Given the description of an element on the screen output the (x, y) to click on. 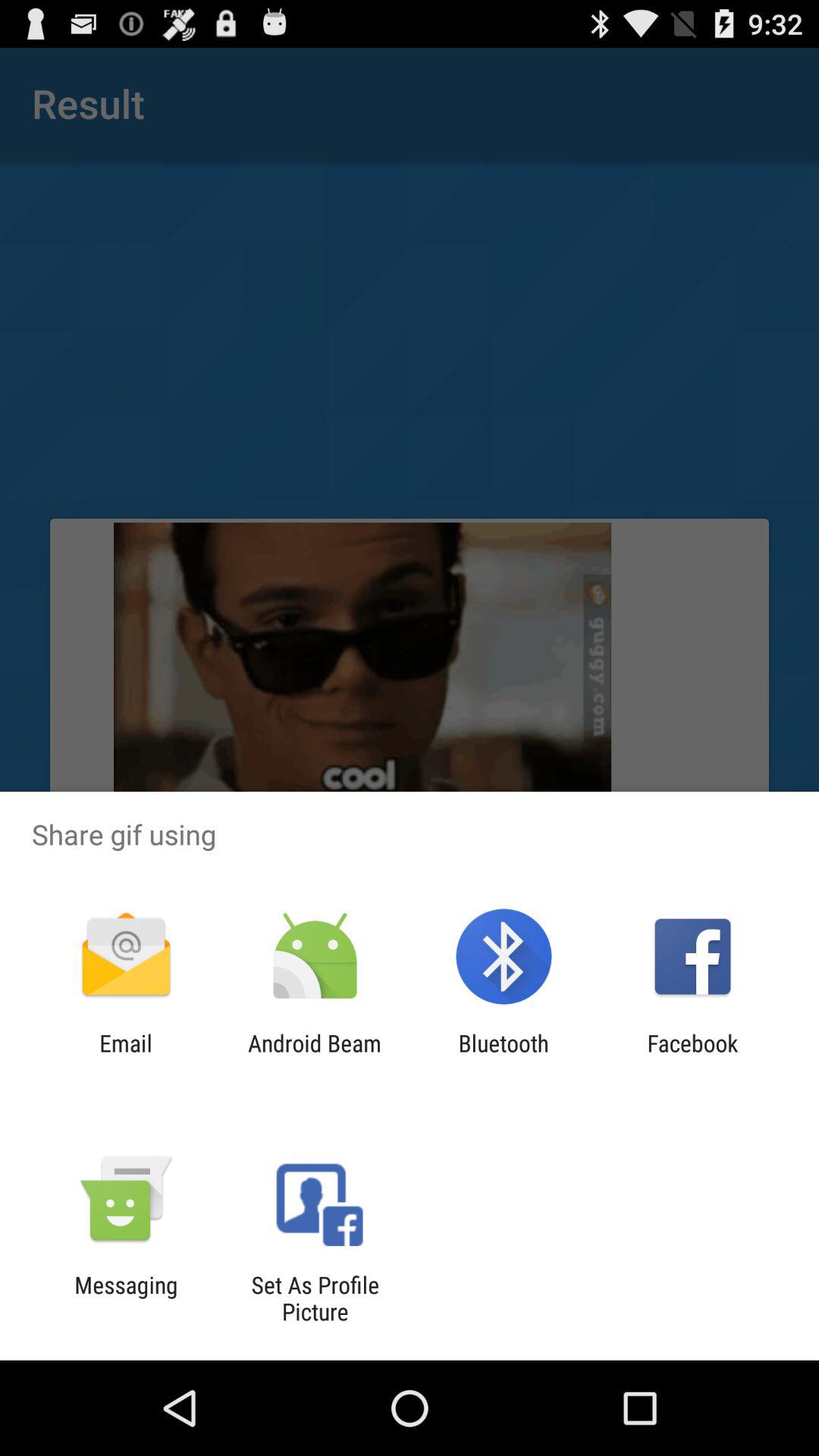
open facebook (692, 1056)
